Given the description of an element on the screen output the (x, y) to click on. 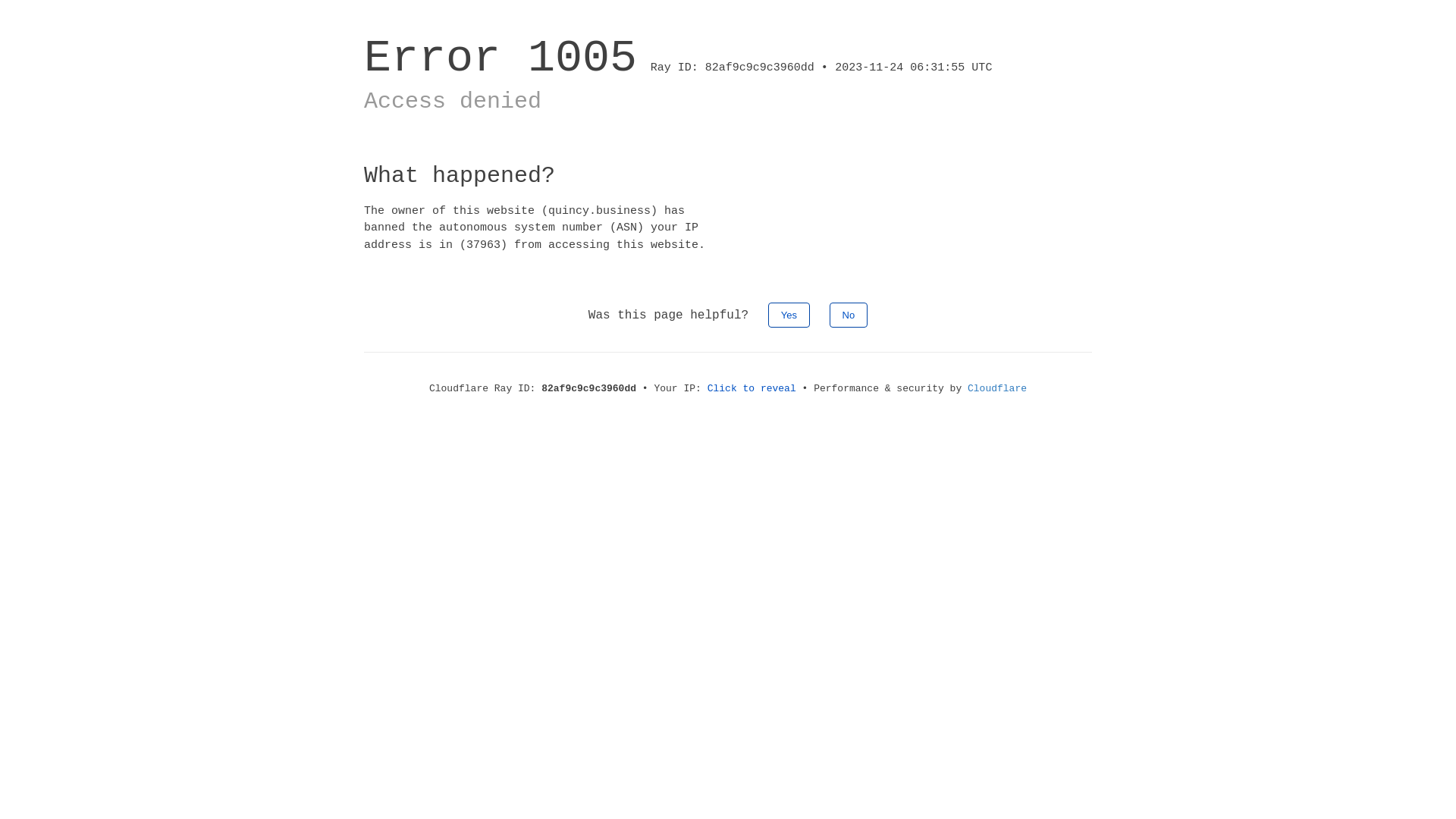
No Element type: text (848, 314)
Yes Element type: text (788, 314)
Cloudflare Element type: text (996, 388)
Click to reveal Element type: text (751, 388)
